Given the description of an element on the screen output the (x, y) to click on. 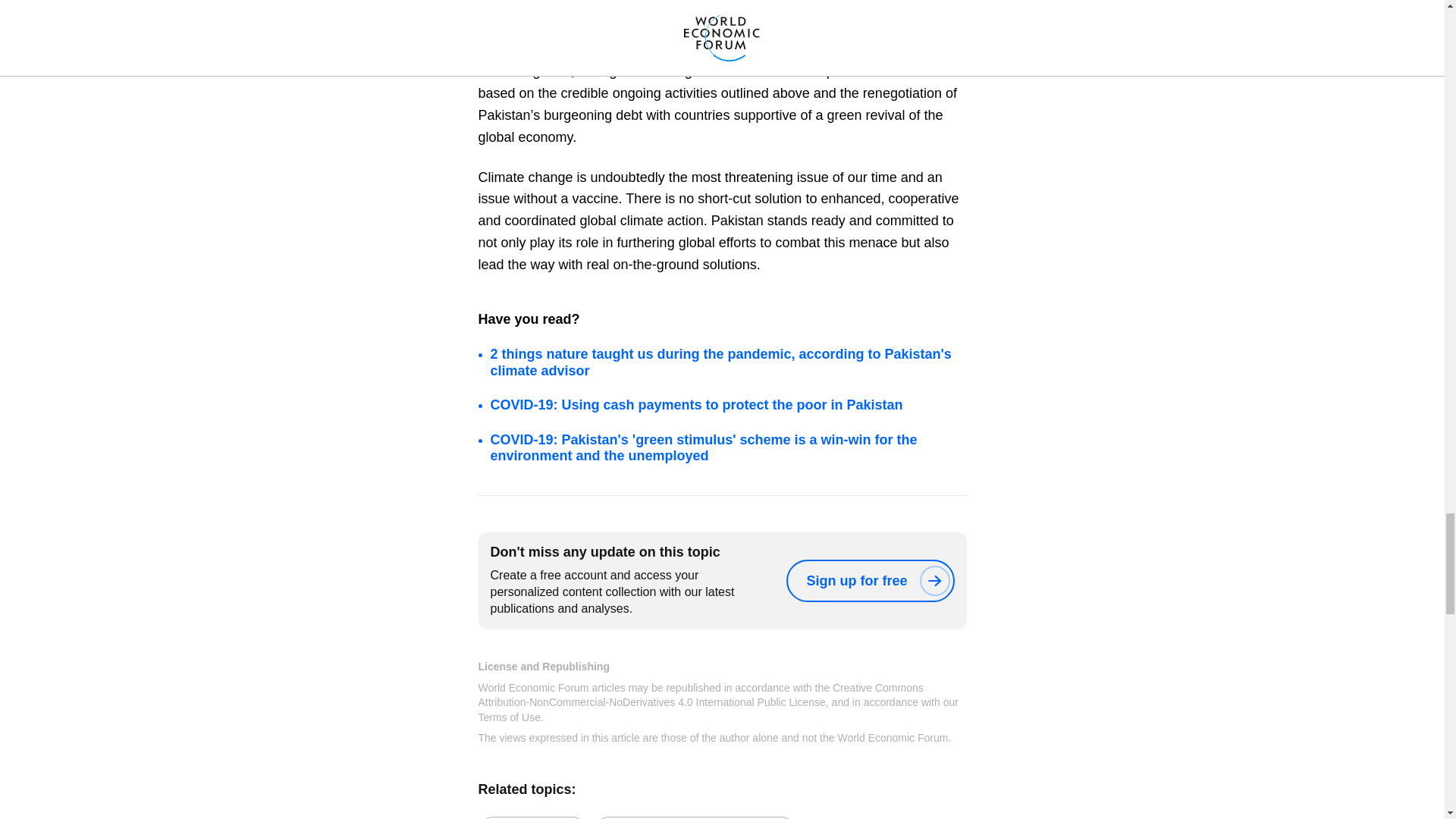
Climate Action (531, 817)
Sign up for free (869, 580)
Health and Healthcare Systems (695, 817)
